Given the description of an element on the screen output the (x, y) to click on. 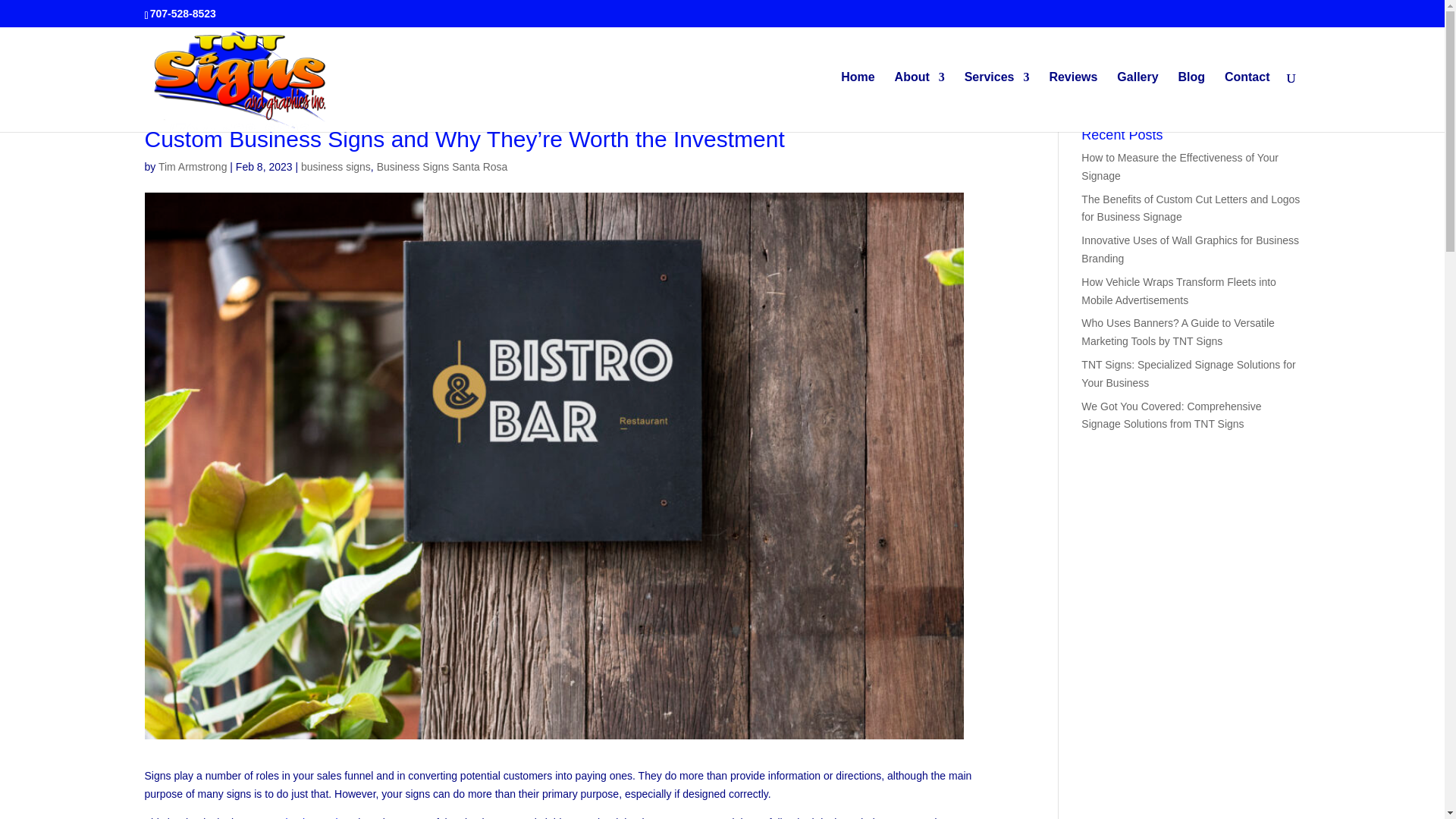
business signs (336, 166)
Posts by Tim Armstrong (192, 166)
Services (996, 101)
Tim Armstrong (192, 166)
Business Signs Santa Rosa (442, 166)
custom business signs (301, 817)
